Given the description of an element on the screen output the (x, y) to click on. 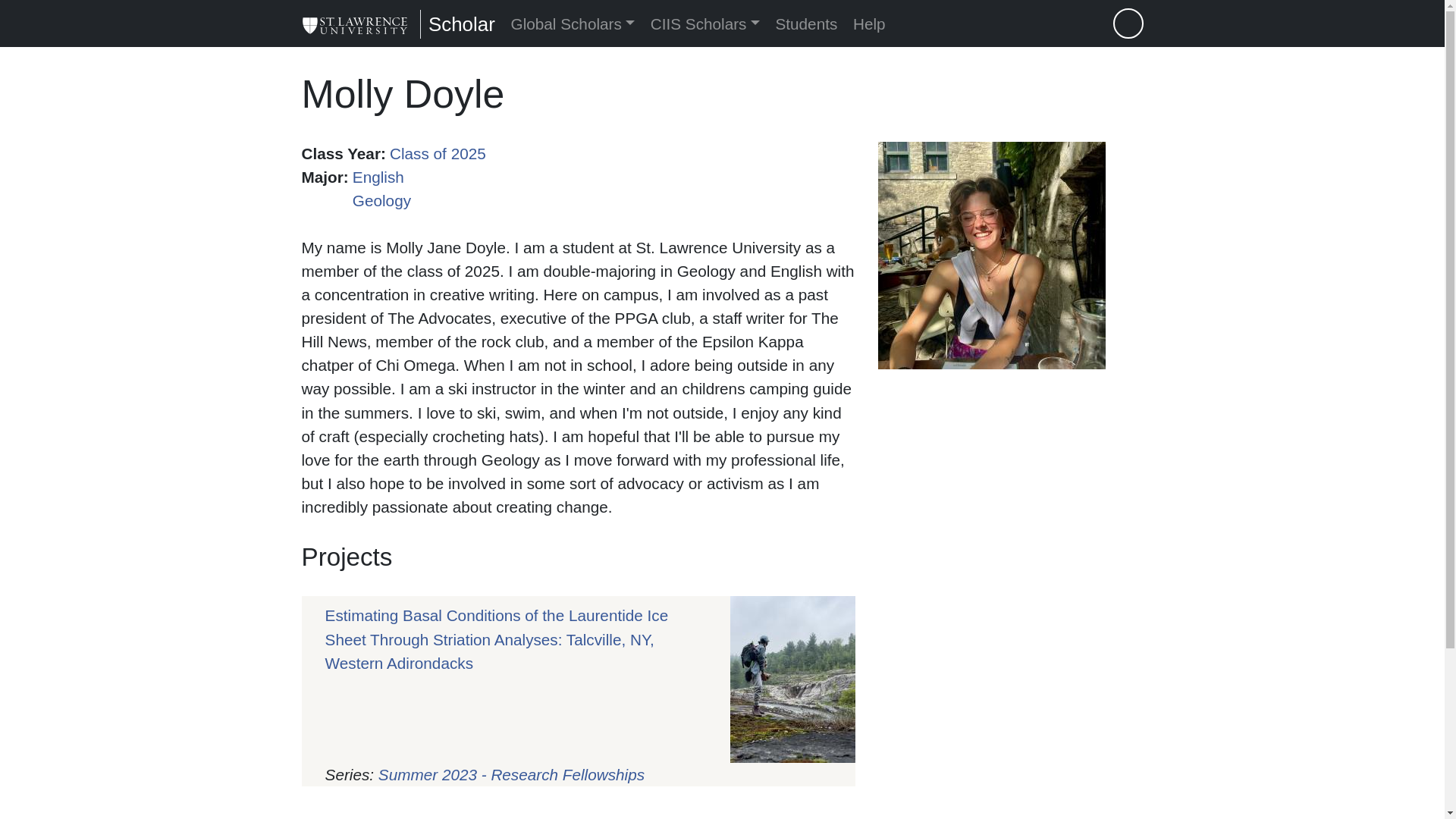
Summer 2023 - Research Fellowships (511, 773)
Class of 2025 (438, 153)
Help (869, 23)
Geology (381, 200)
English (378, 176)
Scholar (461, 24)
Students (806, 23)
Submit Search (1128, 24)
